Given the description of an element on the screen output the (x, y) to click on. 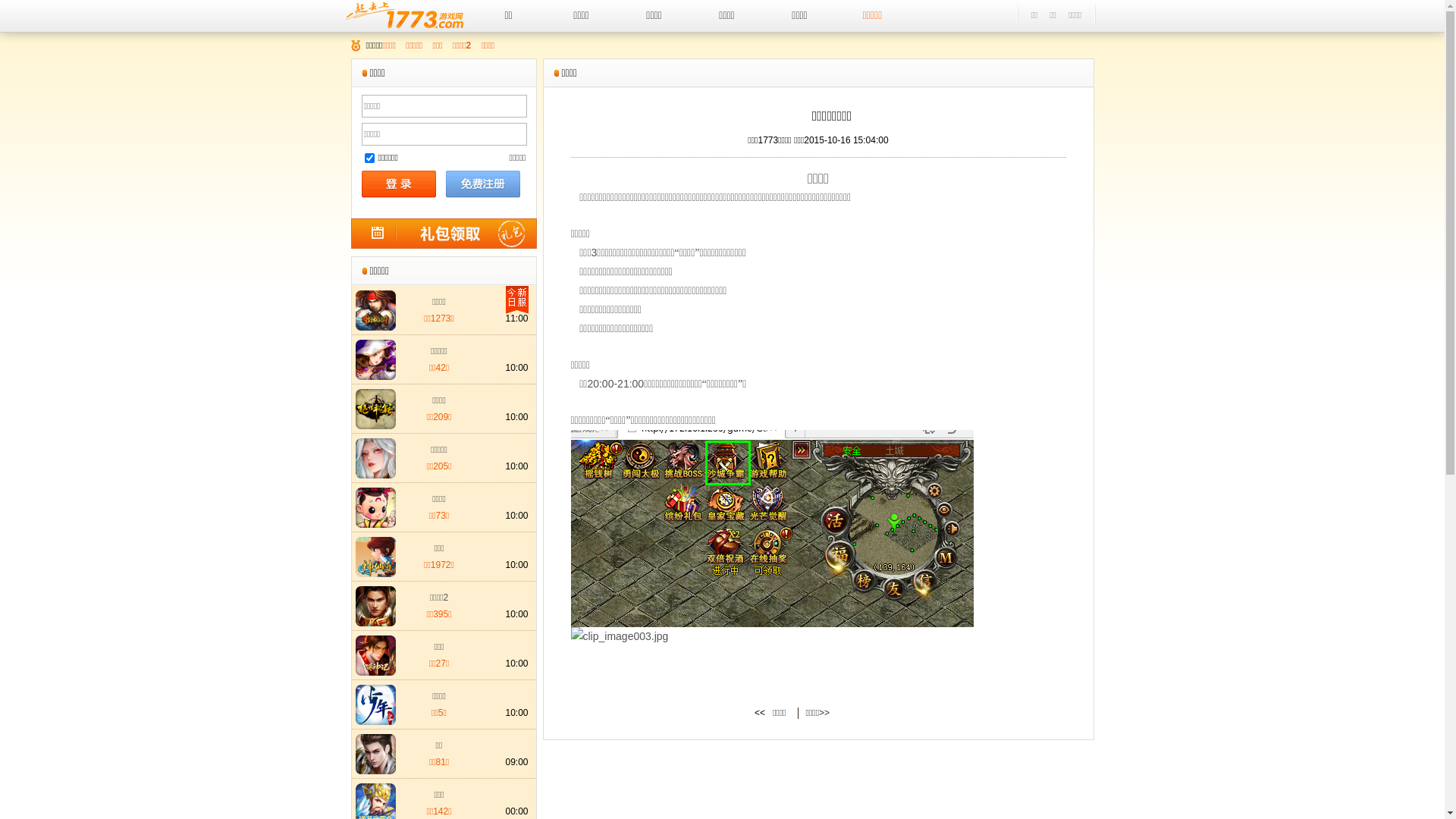
clip_image003.jpg Element type: hover (619, 636)
clip_image001.png Element type: hover (771, 528)
